Given the description of an element on the screen output the (x, y) to click on. 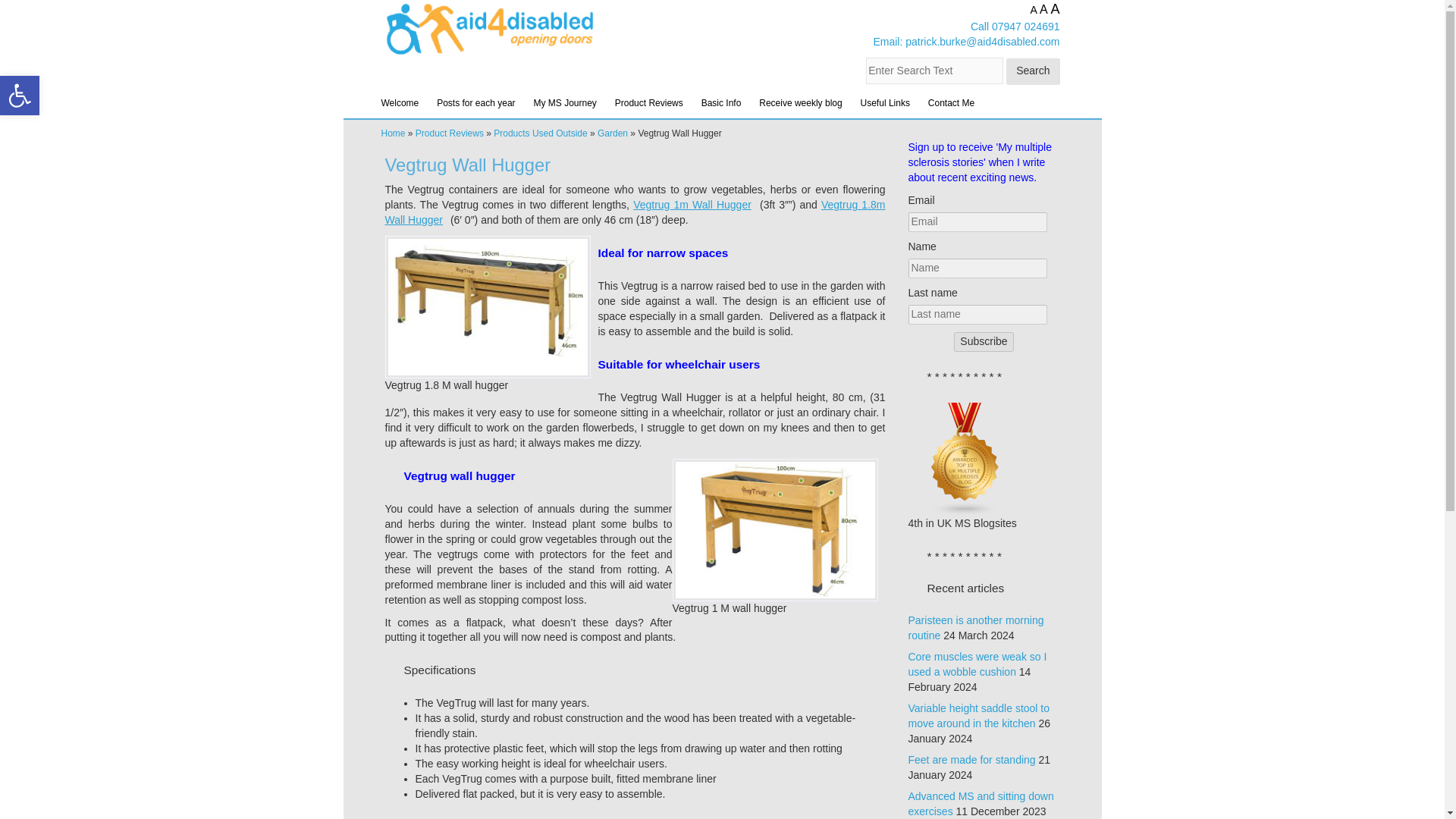
My MS Journey (563, 102)
Posts for each year (475, 102)
Accessibility Tools (19, 95)
Accessibility Tools (19, 95)
Search for: (934, 70)
Search (1032, 71)
Search (1032, 71)
Welcome (399, 102)
Search (1032, 71)
Call 07947 024691 (1015, 26)
